Given the description of an element on the screen output the (x, y) to click on. 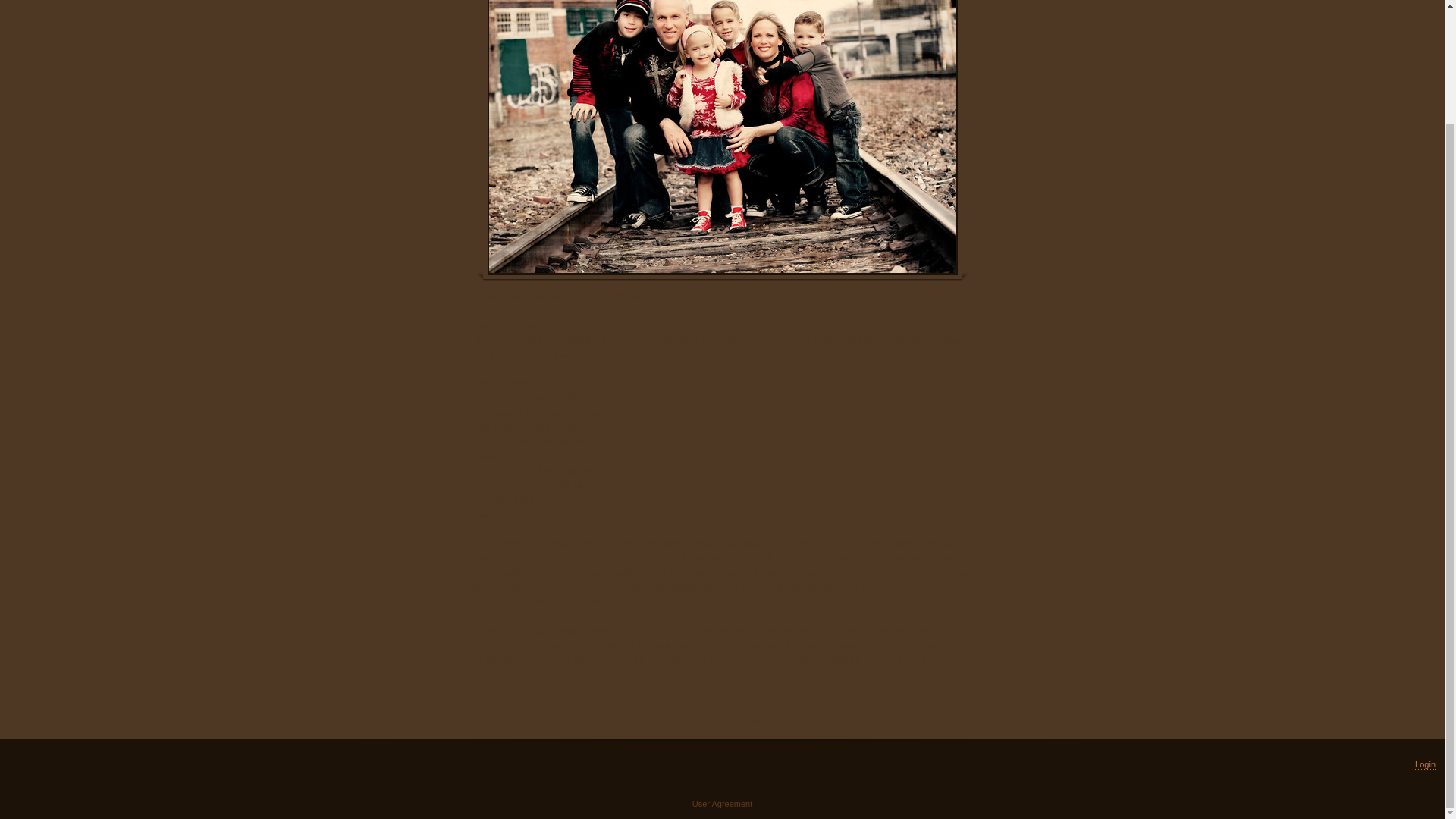
Login (1425, 764)
User Agreement (722, 803)
